Given the description of an element on the screen output the (x, y) to click on. 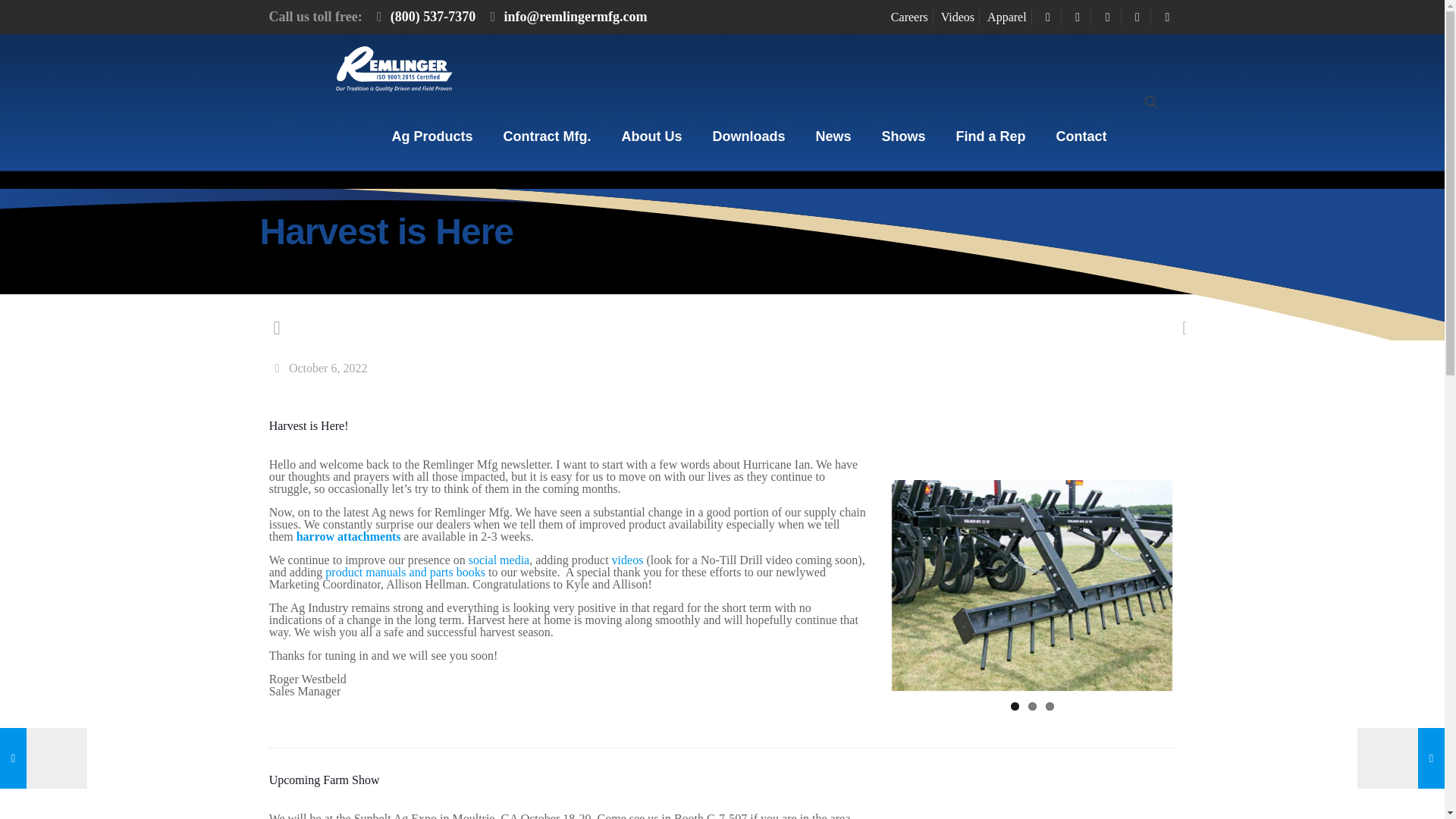
Contract Mfg. (546, 136)
Find a Rep (990, 136)
Remlinger Manufacturing (392, 68)
News (832, 136)
Careers (909, 16)
Contact (1081, 136)
Shows (903, 136)
Apparel (1006, 16)
Facebook (1048, 16)
YouTub (1077, 16)
Videos (957, 16)
About Us (651, 136)
superJumbo-1Bar (1032, 585)
Downloads (748, 136)
Ag Products (431, 136)
